Given the description of an element on the screen output the (x, y) to click on. 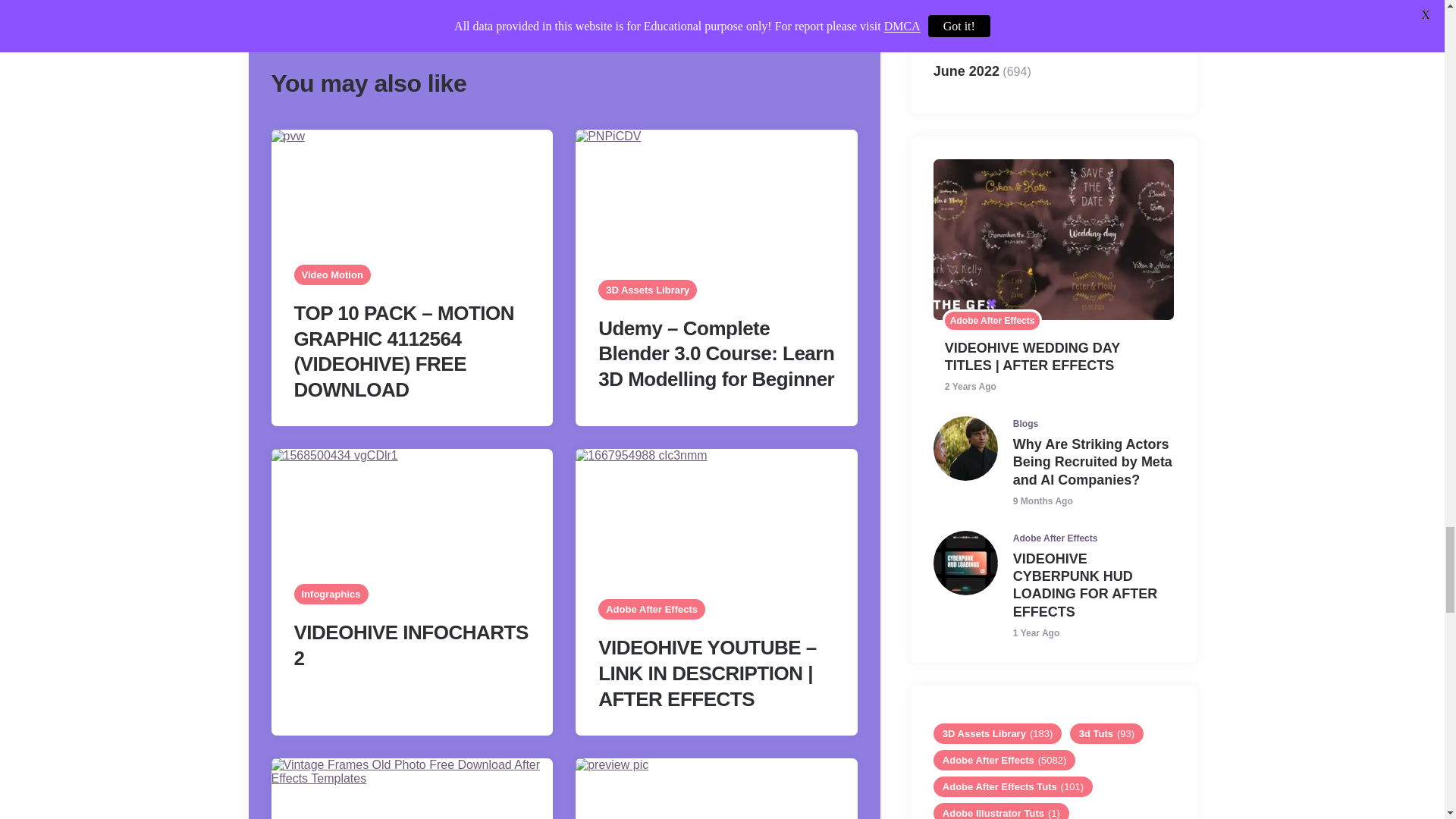
VIDEOHIVE INFOCHARTS 2 111 (411, 520)
